Given the description of an element on the screen output the (x, y) to click on. 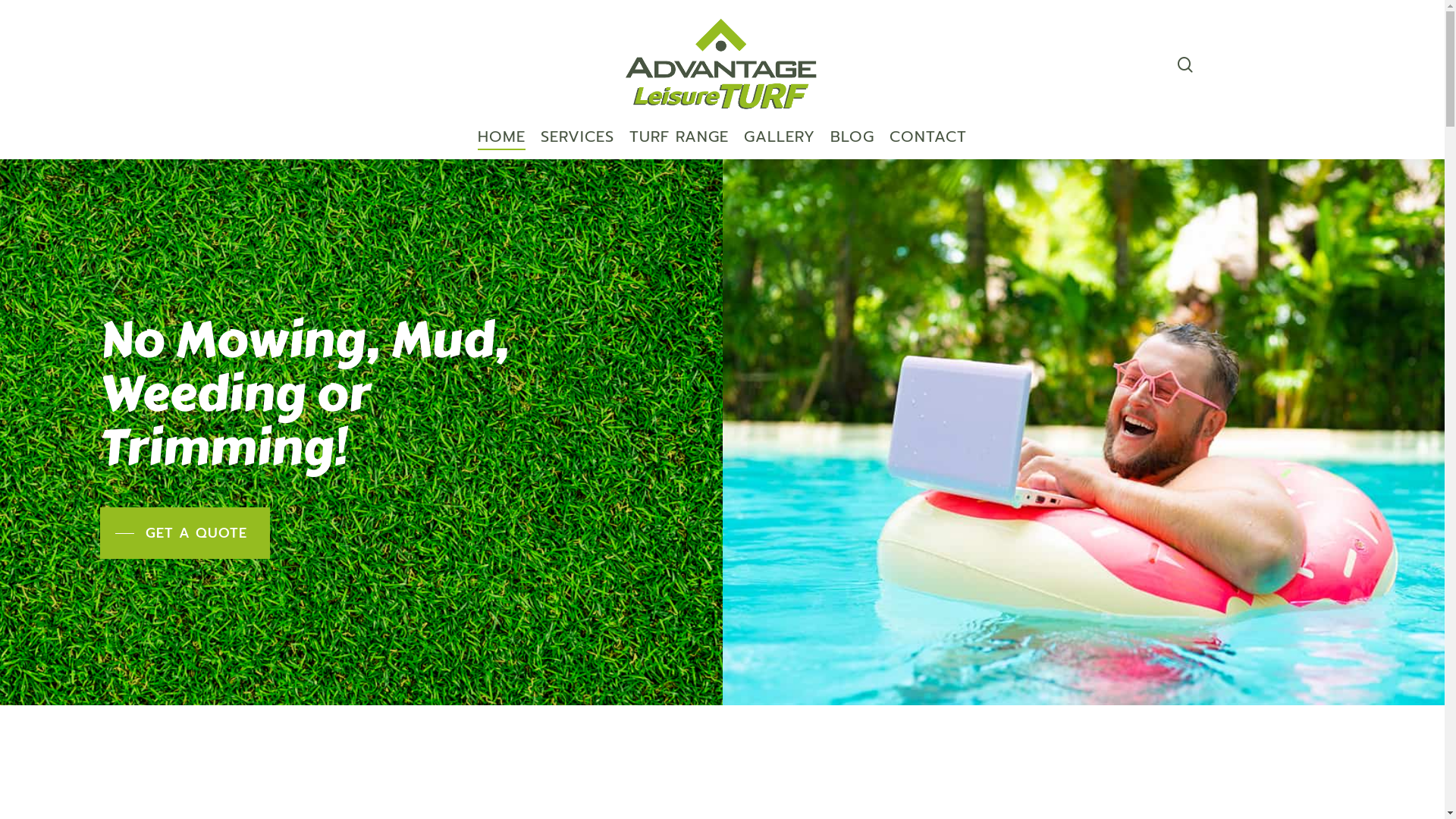
BLOG Element type: text (852, 143)
GET A QUOTE Element type: text (184, 532)
GALLERY Element type: text (779, 143)
search Element type: text (1185, 64)
CONTACT Element type: text (927, 143)
TURF RANGE Element type: text (678, 143)
HOME Element type: text (501, 143)
SERVICES Element type: text (577, 143)
